Given the description of an element on the screen output the (x, y) to click on. 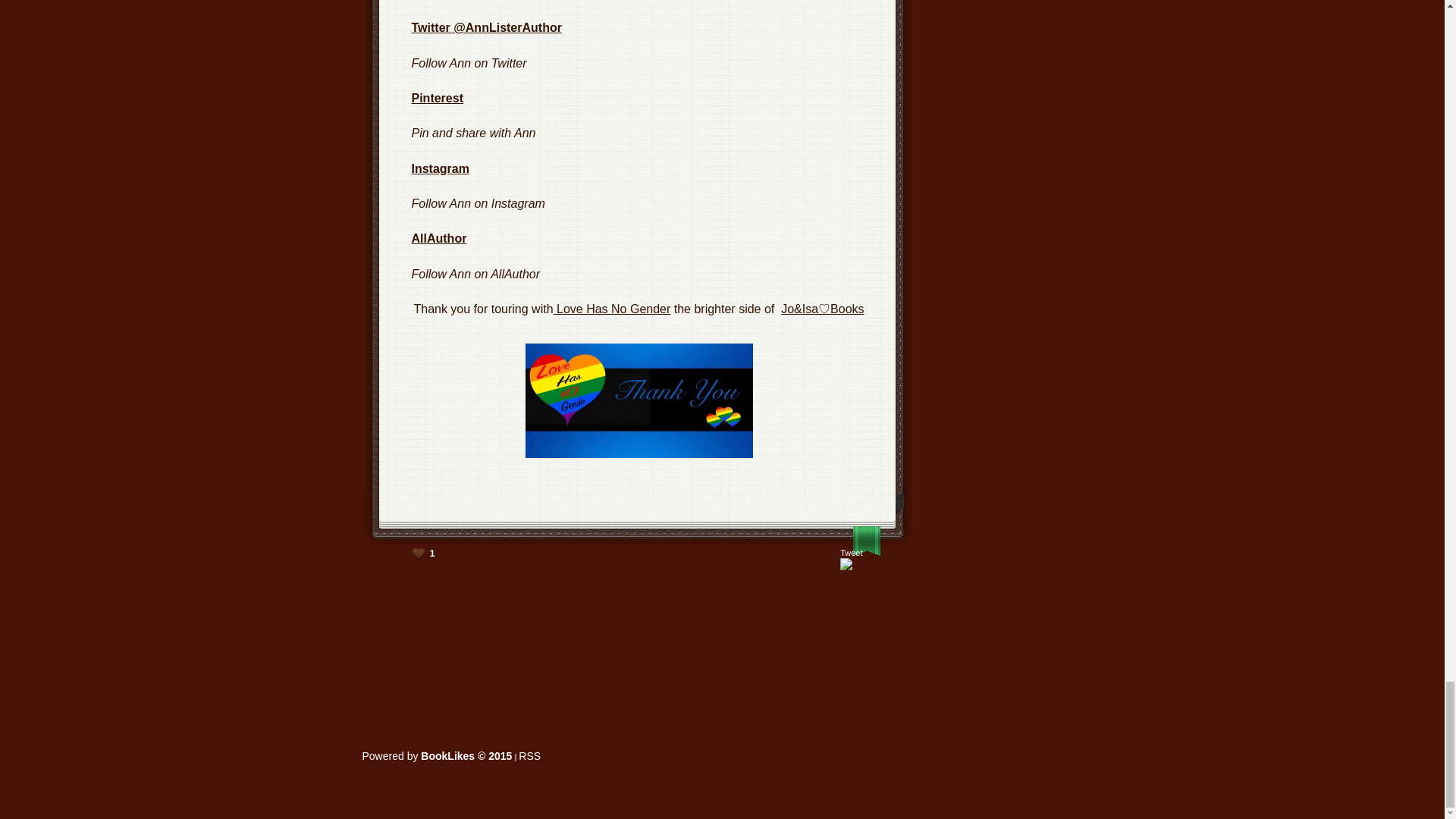
Love Has No Gender (612, 308)
BookLikes (437, 756)
Tweet (850, 552)
BookLikes (529, 756)
AllAuthor (437, 237)
Pinterest (436, 97)
Instagram (439, 168)
